Given the description of an element on the screen output the (x, y) to click on. 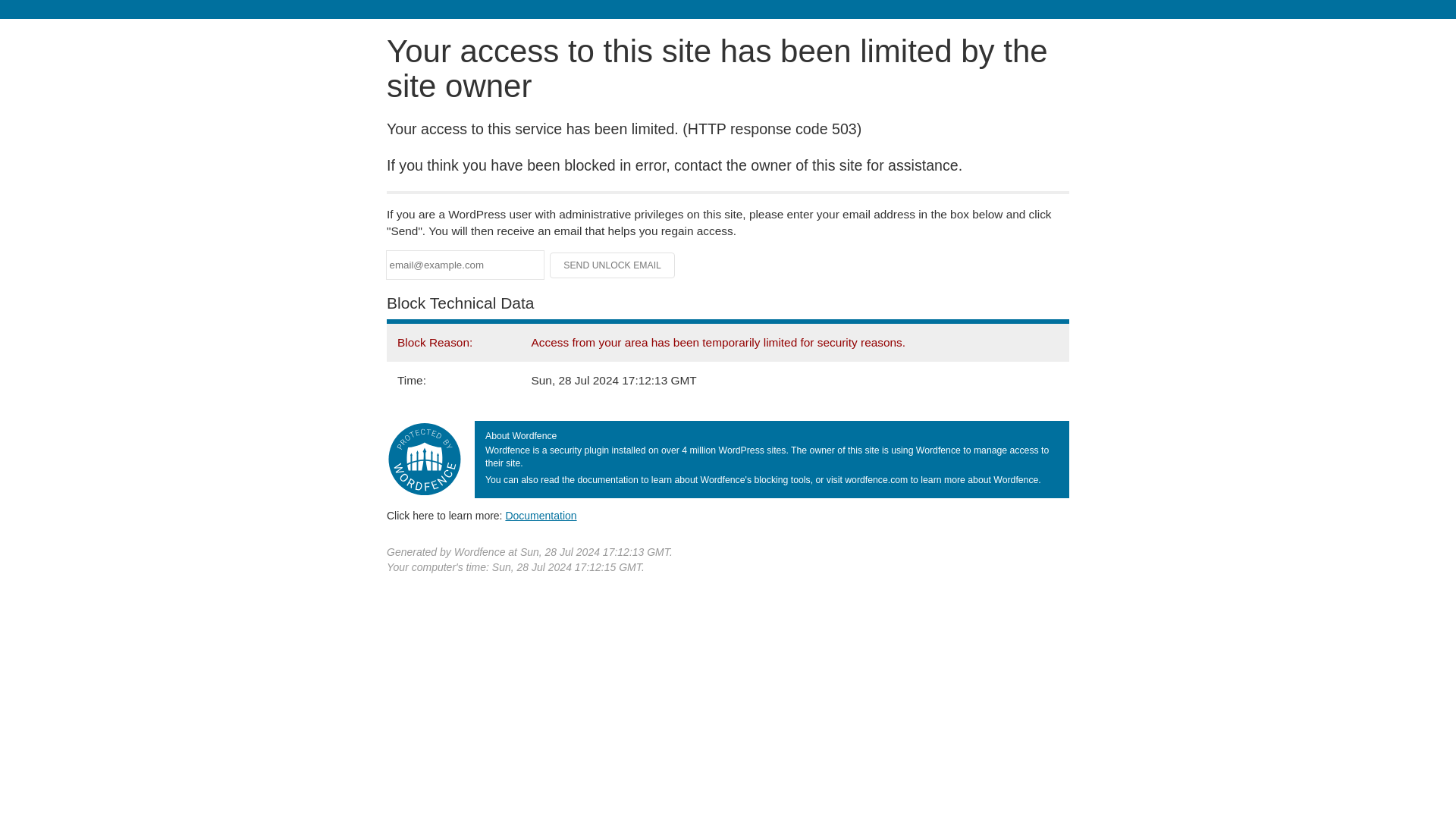
Send Unlock Email (612, 265)
Send Unlock Email (612, 265)
Documentation (540, 515)
